Given the description of an element on the screen output the (x, y) to click on. 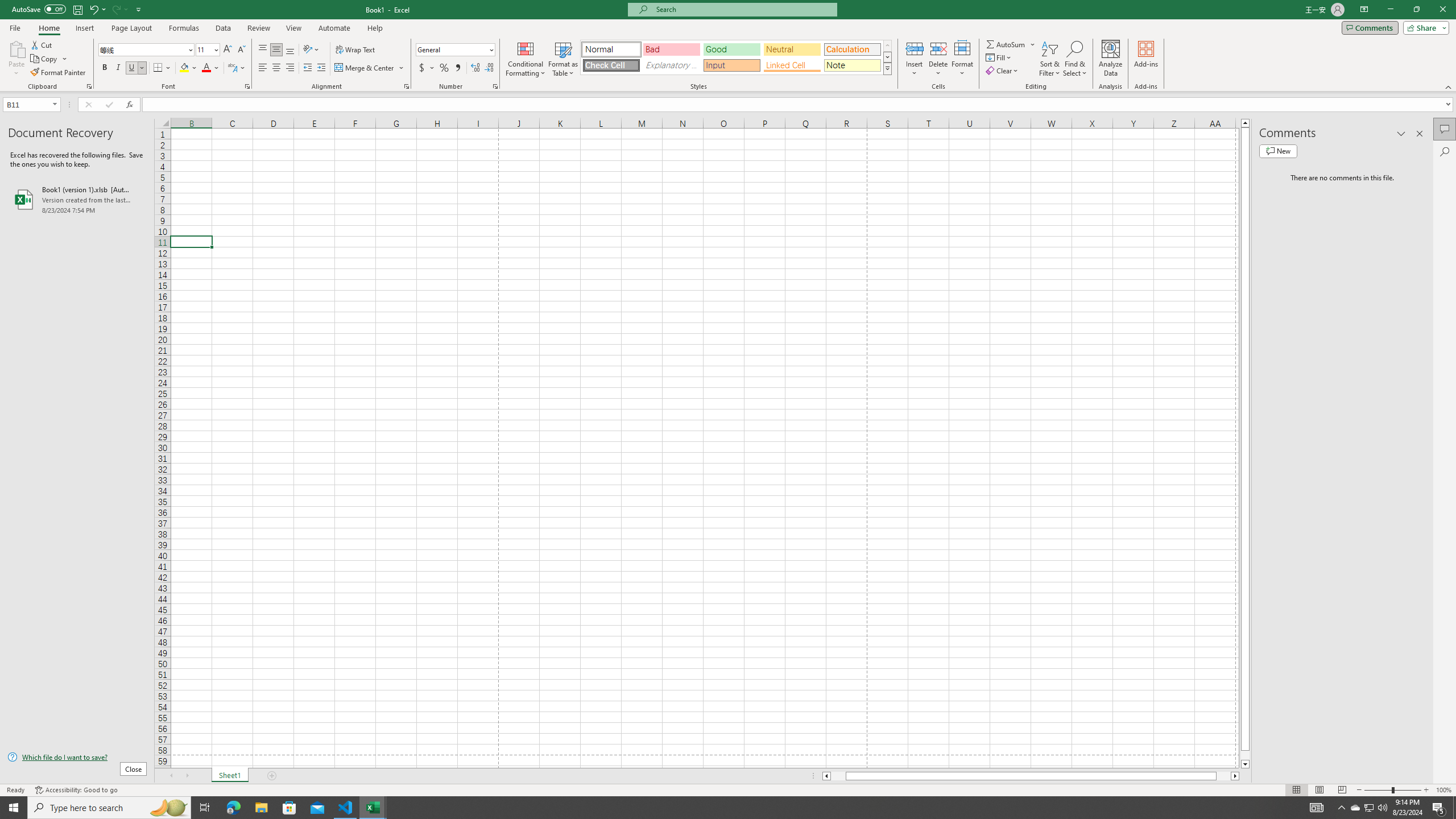
Calculation (852, 49)
Middle Align (276, 49)
AutomationID: CellStylesGallery (736, 57)
Number Format (455, 49)
Underline (136, 67)
Italic (118, 67)
Fill Color (188, 67)
Note (852, 65)
